Given the description of an element on the screen output the (x, y) to click on. 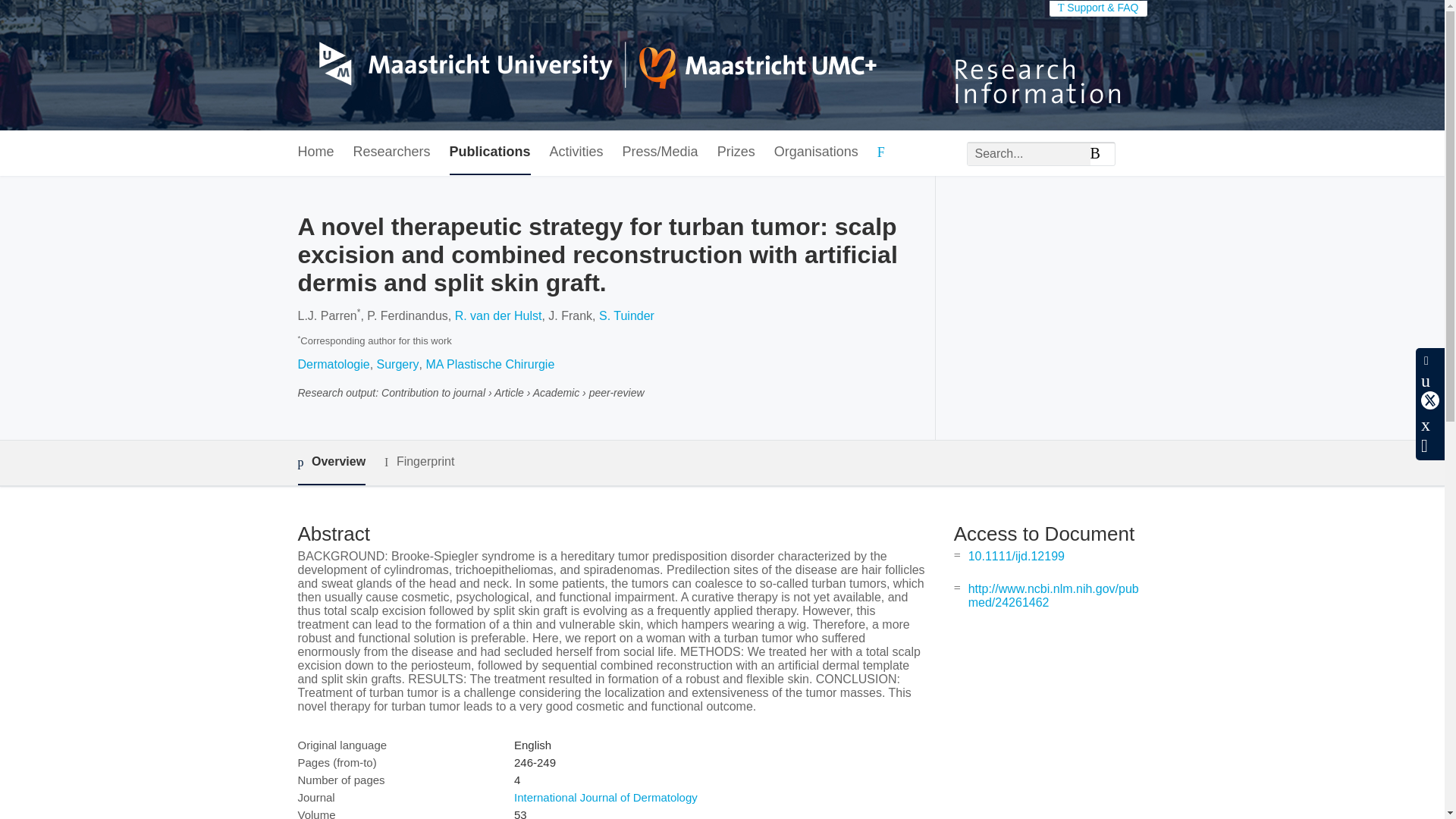
Organisations (816, 152)
Overview (331, 462)
Dermatologie (333, 364)
International Journal of Dermatology (605, 797)
R. van der Hulst (497, 315)
Fingerprint (419, 462)
Publications (490, 152)
Researchers (391, 152)
S. Tuinder (625, 315)
Maastricht University Home (586, 64)
Surgery (398, 364)
Activities (577, 152)
Home (315, 152)
Prizes (736, 152)
